Given the description of an element on the screen output the (x, y) to click on. 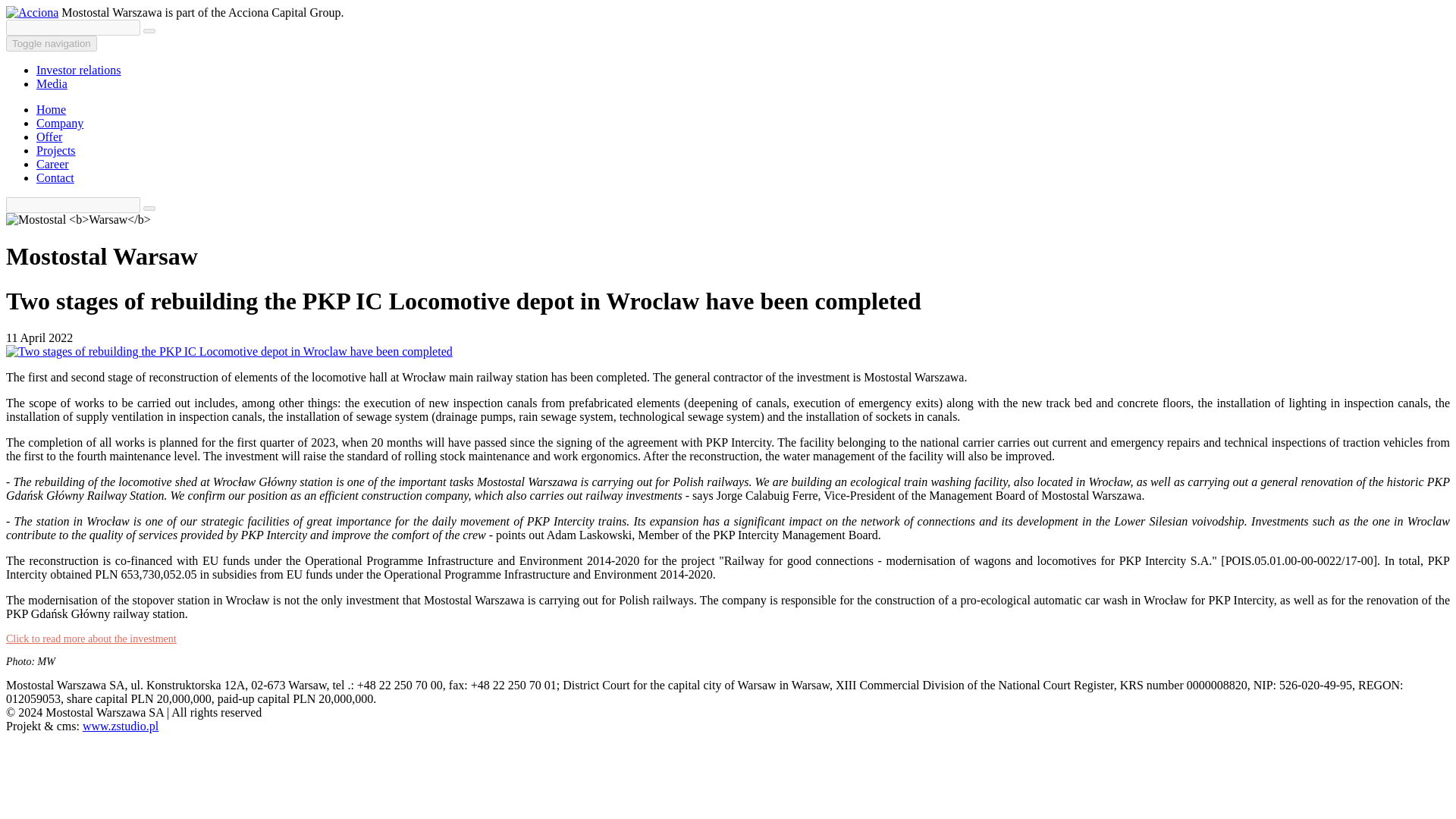
Click to read more about the investment (90, 638)
Offer (49, 136)
Toggle navigation (51, 43)
Media (51, 83)
Projects (55, 150)
Company (59, 123)
Home (50, 109)
Career (52, 164)
Investor relations (78, 69)
Contact (55, 177)
